Given the description of an element on the screen output the (x, y) to click on. 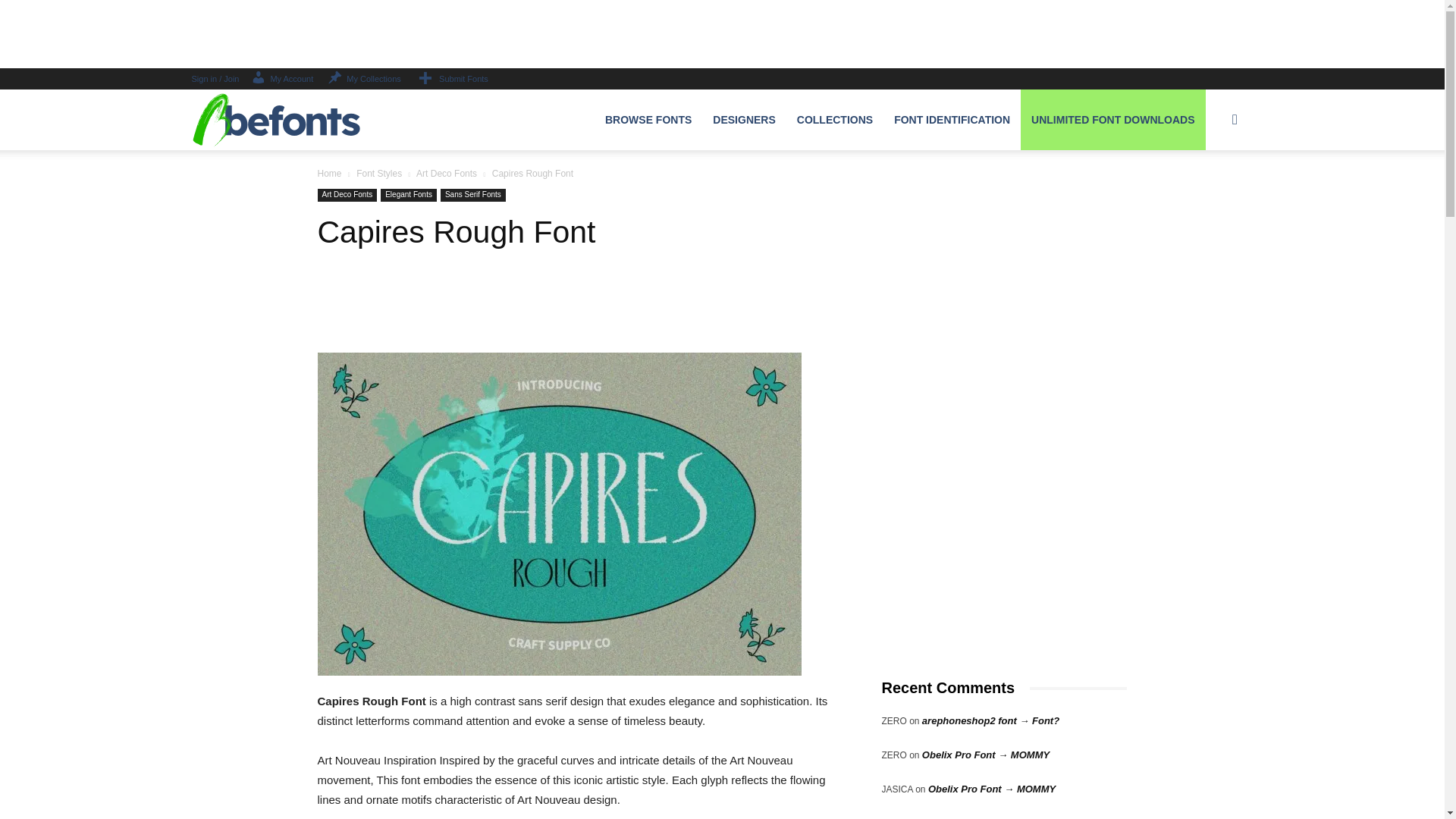
All Font Categories (647, 119)
Font Designers (743, 119)
Font Collections (834, 119)
View all posts in Font Styles (378, 173)
Font identification (951, 119)
View all posts in Art Deco Fonts (446, 173)
